Given the description of an element on the screen output the (x, y) to click on. 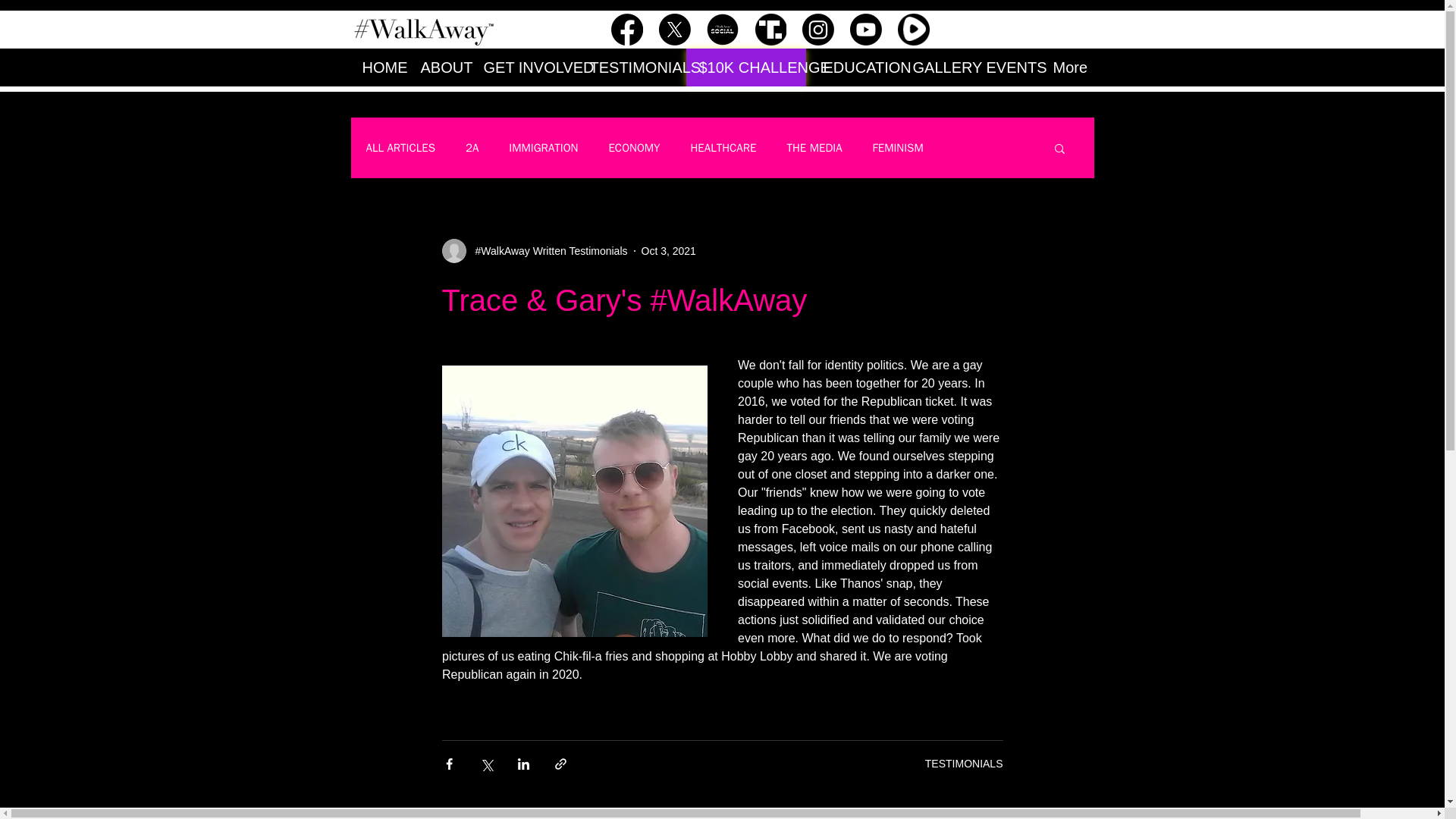
FEMINISM (897, 147)
ABOUT (440, 67)
ALL ARTICLES (399, 147)
IMMIGRATION (543, 147)
THE MEDIA (813, 147)
HOME (379, 67)
ECONOMY (633, 147)
HEALTHCARE (722, 147)
EVENTS (1008, 67)
GALLERY (937, 67)
